Given the description of an element on the screen output the (x, y) to click on. 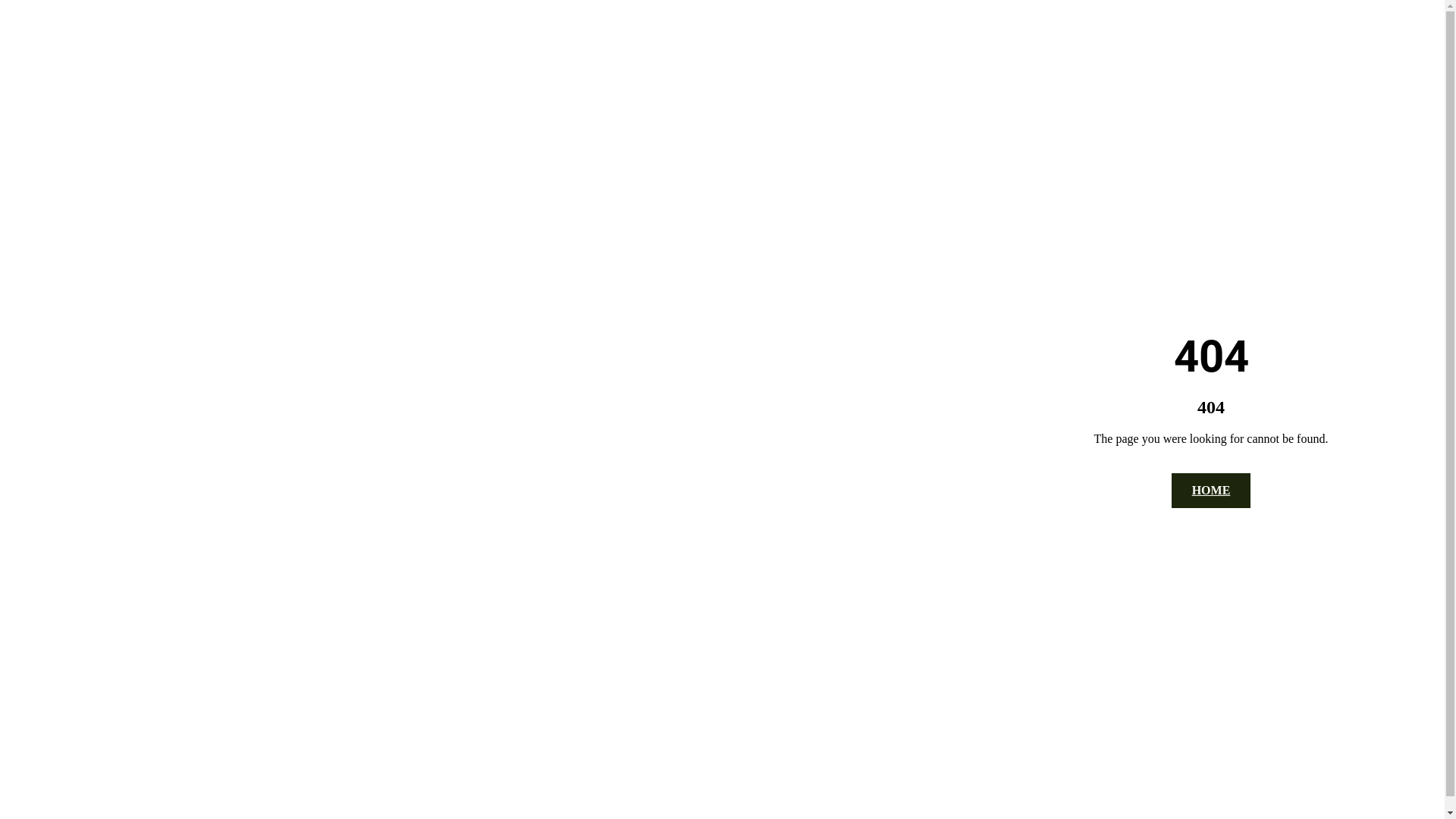
HOME Element type: text (1211, 490)
